Given the description of an element on the screen output the (x, y) to click on. 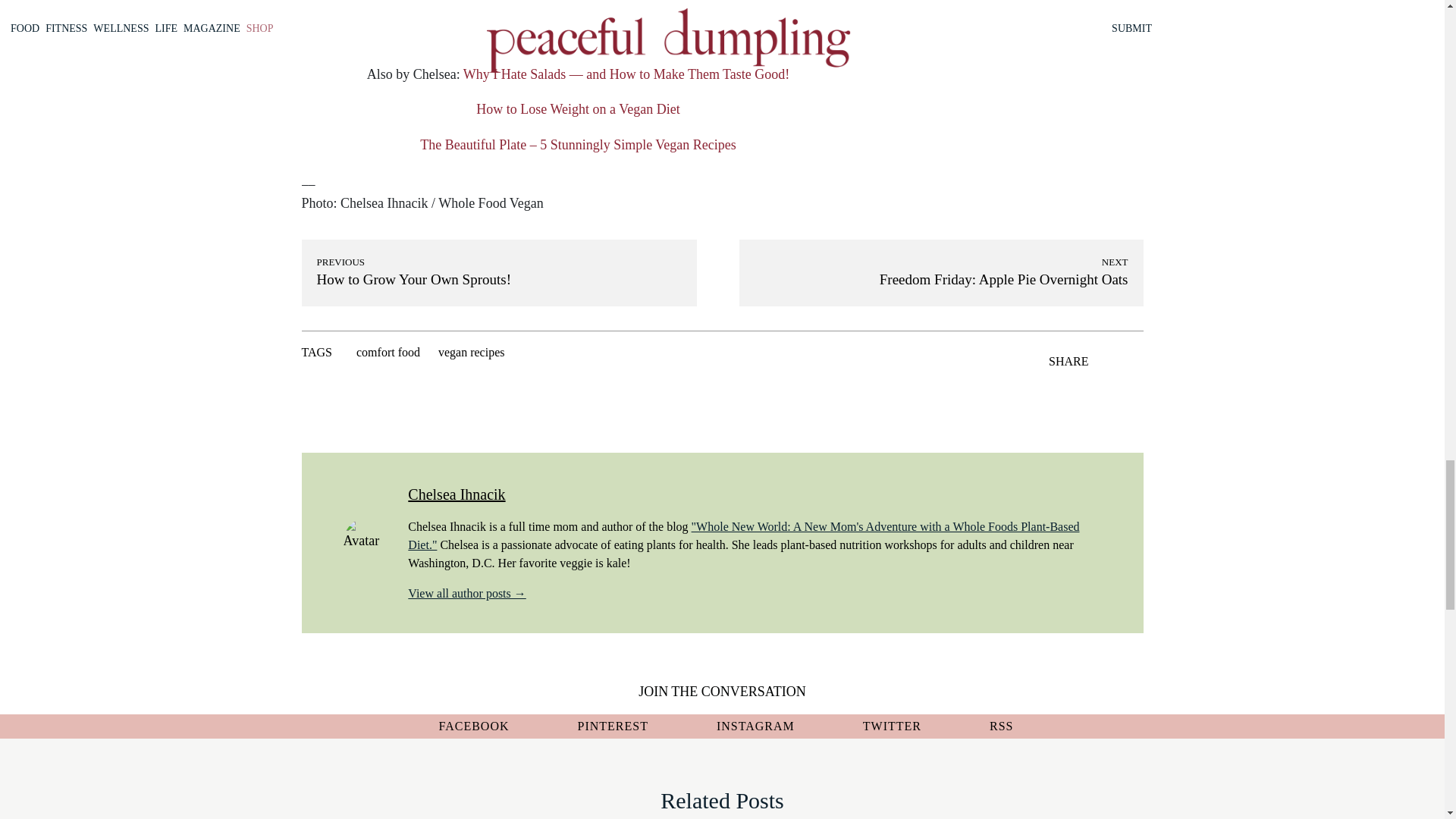
How to Lose Weight on a Vegan Diet (577, 109)
The Beautiful Plate: 5 Stunningly Simple Vegan Recipes (578, 144)
